Given the description of an element on the screen output the (x, y) to click on. 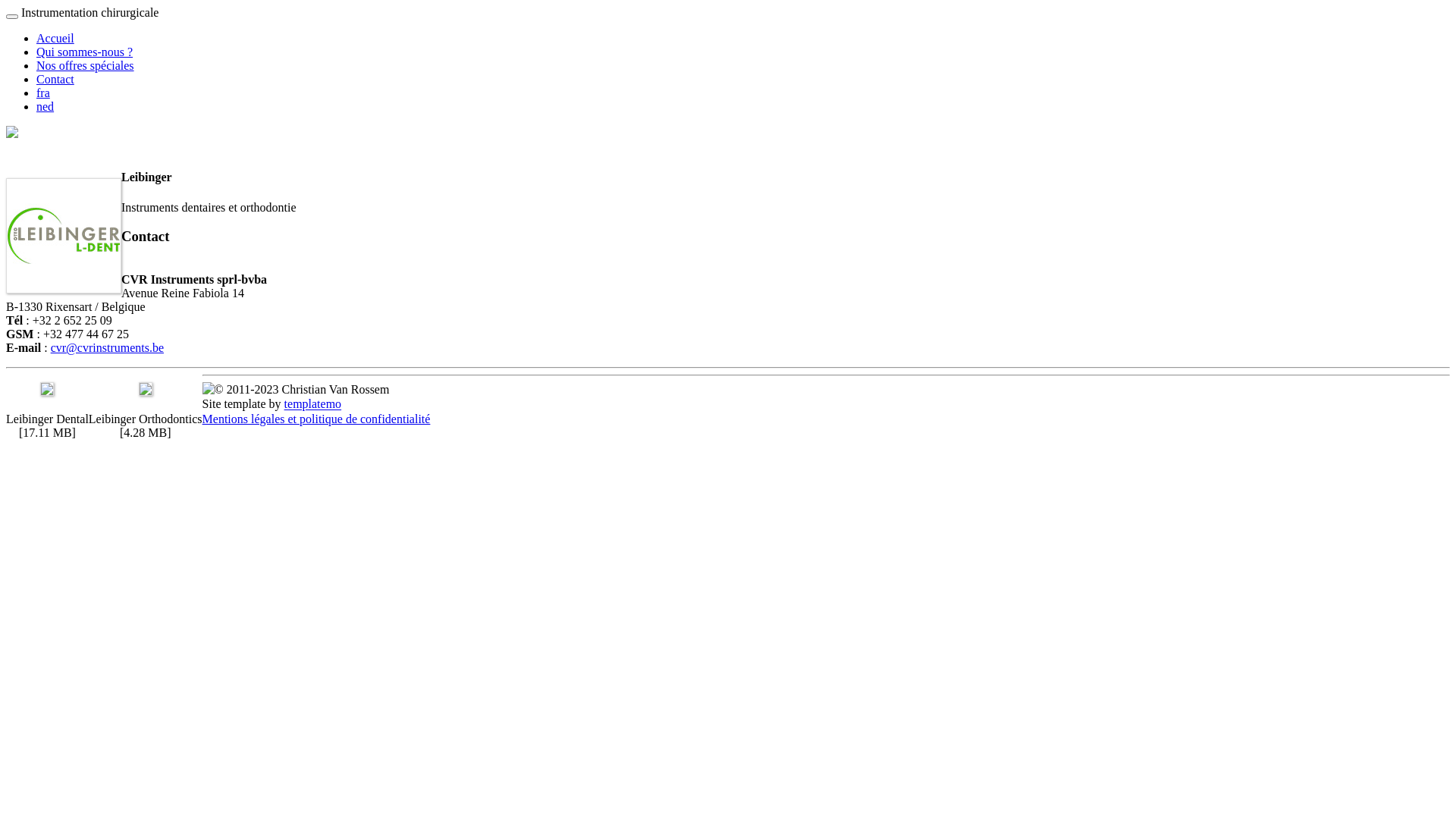
Accueil Element type: text (55, 37)
Qui sommes-nous ? Element type: text (84, 51)
Instrumentation chirurgicale Element type: text (89, 12)
cvr@cvrinstruments.be Element type: text (106, 347)
templatemo Element type: text (313, 404)
fra Element type: text (43, 92)
Contact Element type: text (55, 78)
ned Element type: text (44, 106)
